Given the description of an element on the screen output the (x, y) to click on. 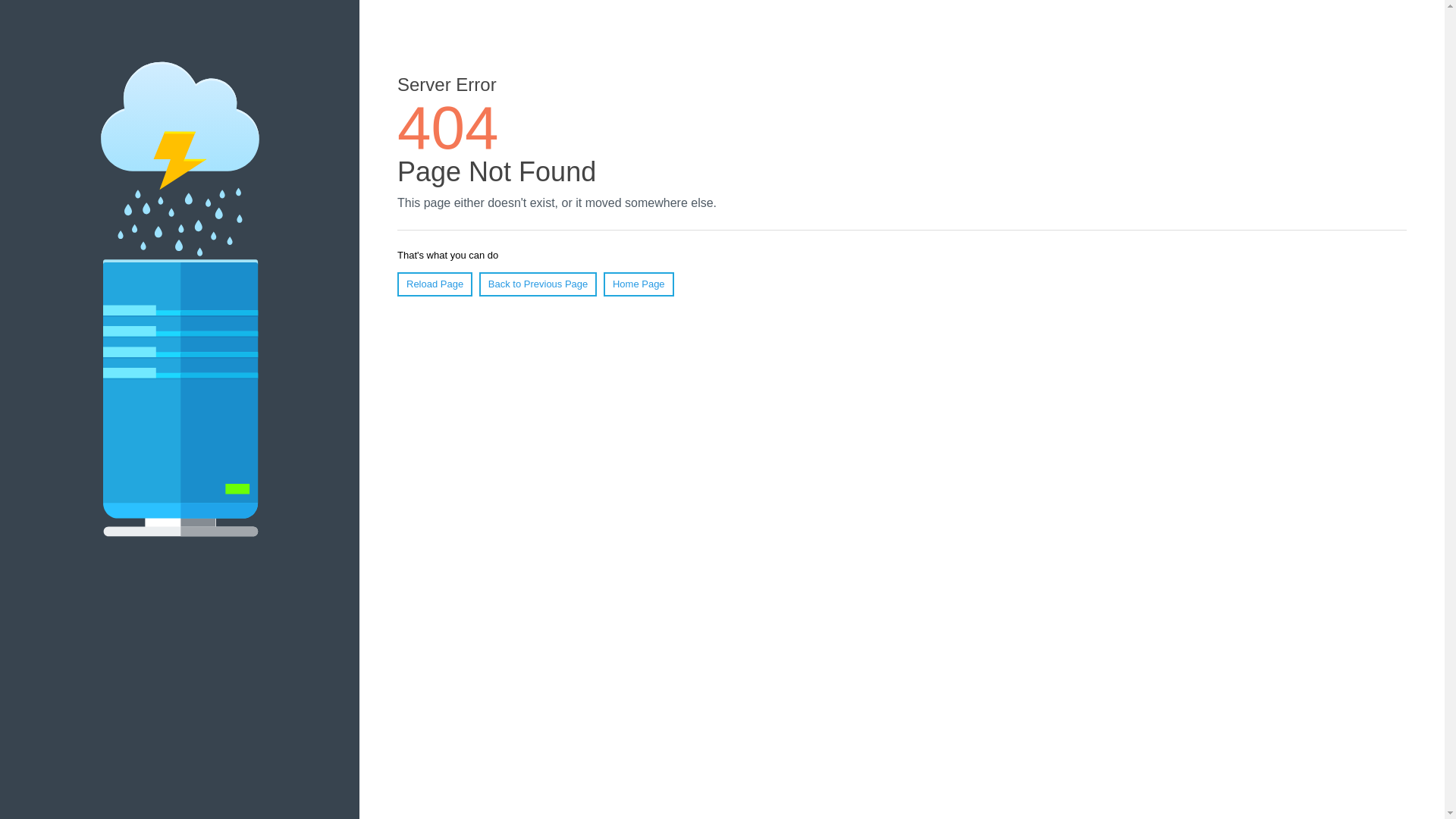
Back to Previous Page Element type: text (538, 284)
Reload Page Element type: text (434, 284)
Home Page Element type: text (638, 284)
